Given the description of an element on the screen output the (x, y) to click on. 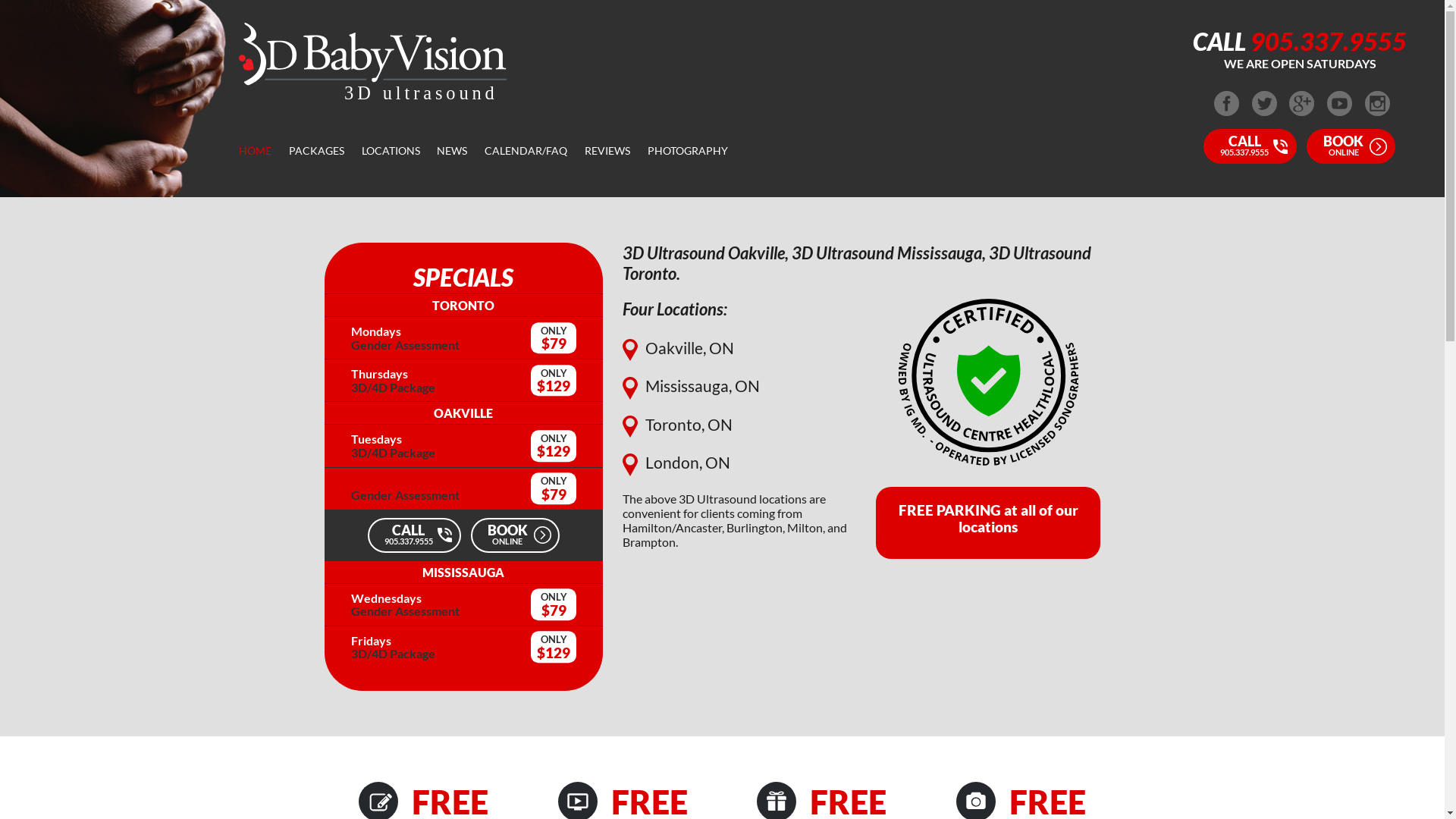
Tuesdays
3D/4D Package
ONLY
$129 Element type: text (463, 445)
CALL
905.337.9555 Element type: text (1249, 145)
Mississauga, ON Element type: text (690, 385)
3D-Baby Ultrasound Instagram Element type: hover (1377, 113)
HOME Element type: text (254, 150)
PACKAGES Element type: text (316, 150)
NEWS Element type: text (451, 150)
CALL
905.337.9555 Element type: text (414, 534)
Homepage Element type: hover (374, 97)
REVIEWS Element type: text (607, 150)
Oakville, ON Element type: text (678, 347)
Wednesdays
Gender Assessment
ONLY
$79 Element type: text (463, 604)
3D-Baby Ultrasound Twitter Element type: hover (1264, 113)
3D-Baby Ultrasound Google Plus Element type: hover (1301, 113)
Mondays
Gender Assessment
ONLY
$79 Element type: text (463, 337)
3D-Baby Ultrasound YouTube Element type: hover (1339, 113)
CALENDAR/FAQ Element type: text (525, 150)
Fridays
3D/4D Package
ONLY
$129 Element type: text (463, 647)
  Gender Assessment
ONLY
$79 Element type: text (463, 488)
London, ON Element type: text (676, 461)
3D-Baby Ultrasound Facebook Element type: hover (1226, 113)
LOCATIONS Element type: text (390, 150)
PHOTOGRAPHY Element type: text (687, 150)
Toronto, ON Element type: text (677, 423)
CALL 905.337.9555 Element type: text (1299, 41)
Thursdays
3D/4D Package
ONLY
$129 Element type: text (463, 380)
BOOK
ONLINE Element type: text (514, 534)
BOOK
ONLINE Element type: text (1350, 145)
